Given the description of an element on the screen output the (x, y) to click on. 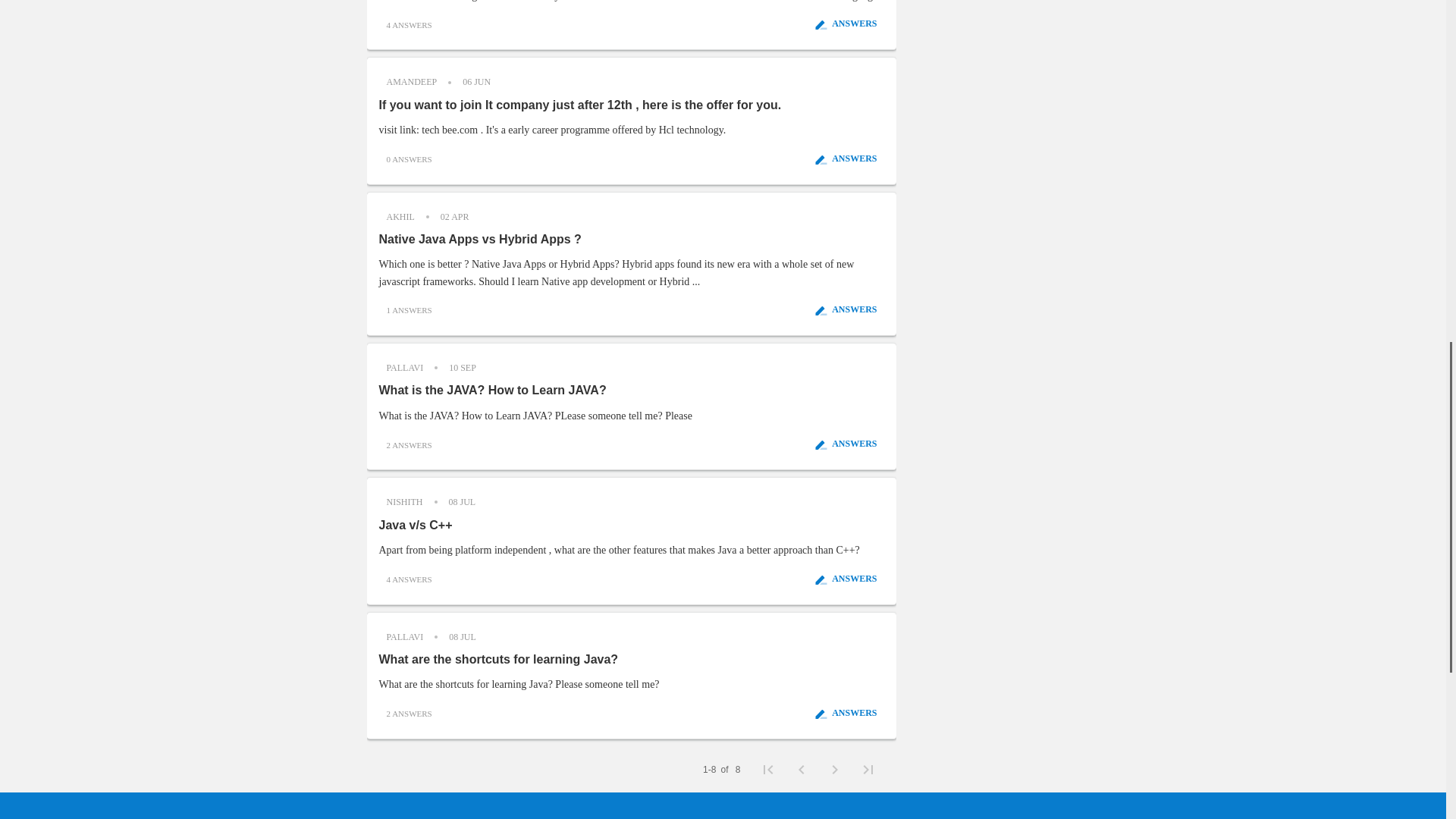
First (767, 769)
previous (800, 769)
Amandeep Shakya (411, 81)
Pallavi Gupta (404, 637)
Next (833, 769)
Last (866, 769)
Nishith Joshi (404, 501)
Pallavi Gupta (404, 367)
Akhil Sarikonda (400, 216)
